Given the description of an element on the screen output the (x, y) to click on. 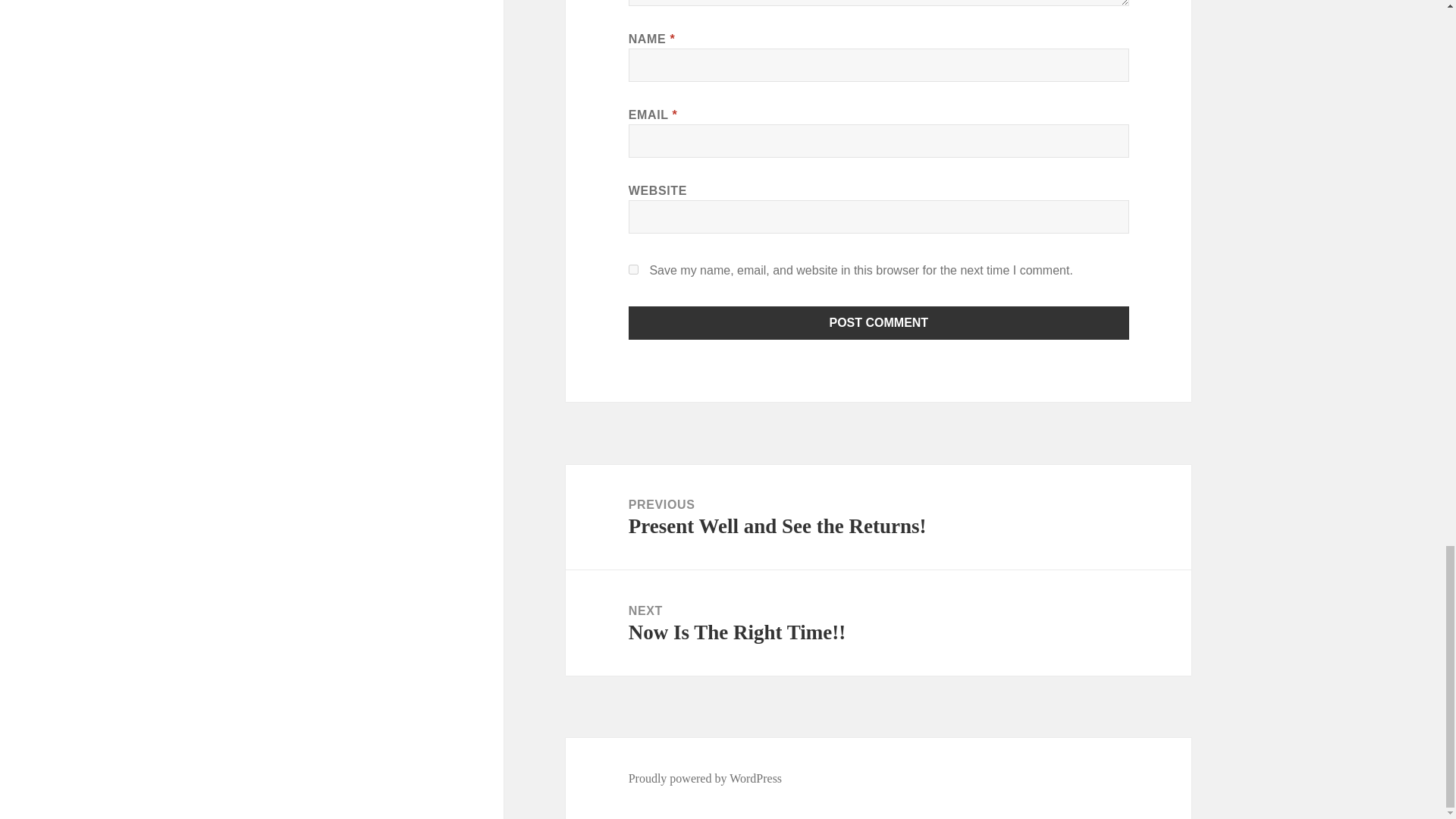
Post Comment (878, 322)
Proudly powered by WordPress (704, 778)
Post Comment (878, 322)
yes (878, 517)
